Given the description of an element on the screen output the (x, y) to click on. 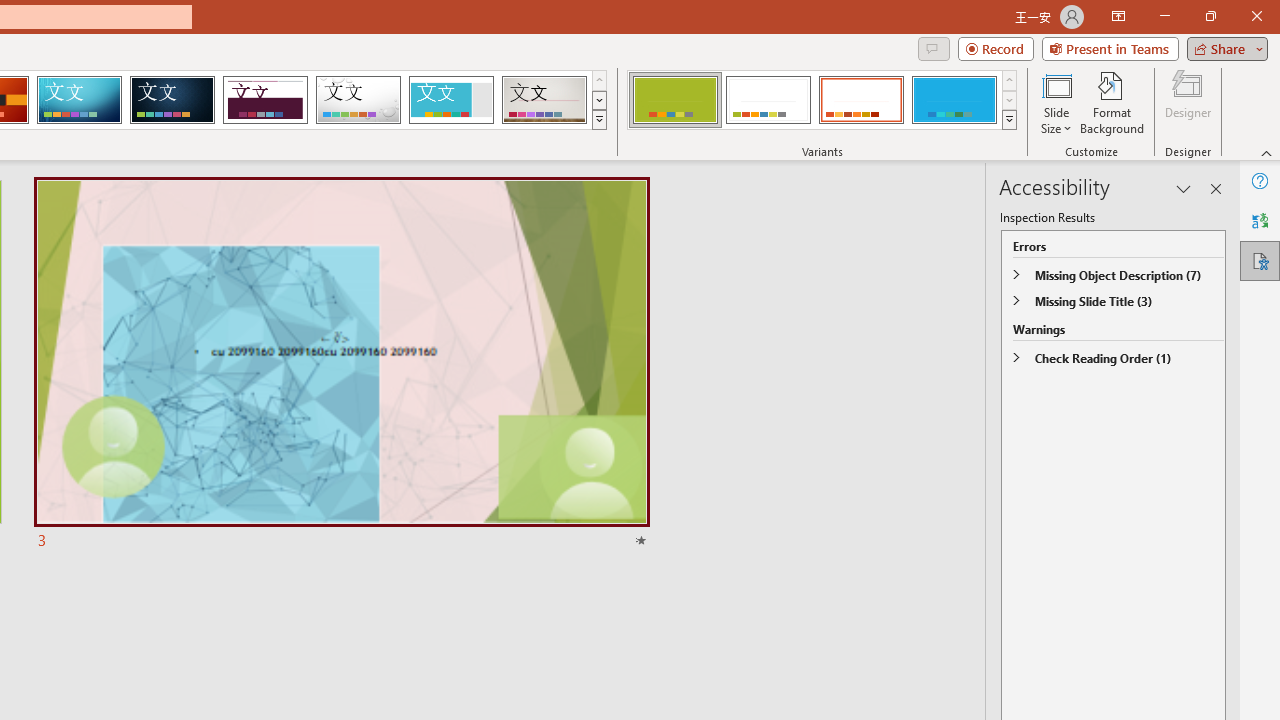
Damask (171, 100)
Frame (450, 100)
Format Background (1111, 102)
Variants (1009, 120)
Basis Variant 4 (953, 100)
